Given the description of an element on the screen output the (x, y) to click on. 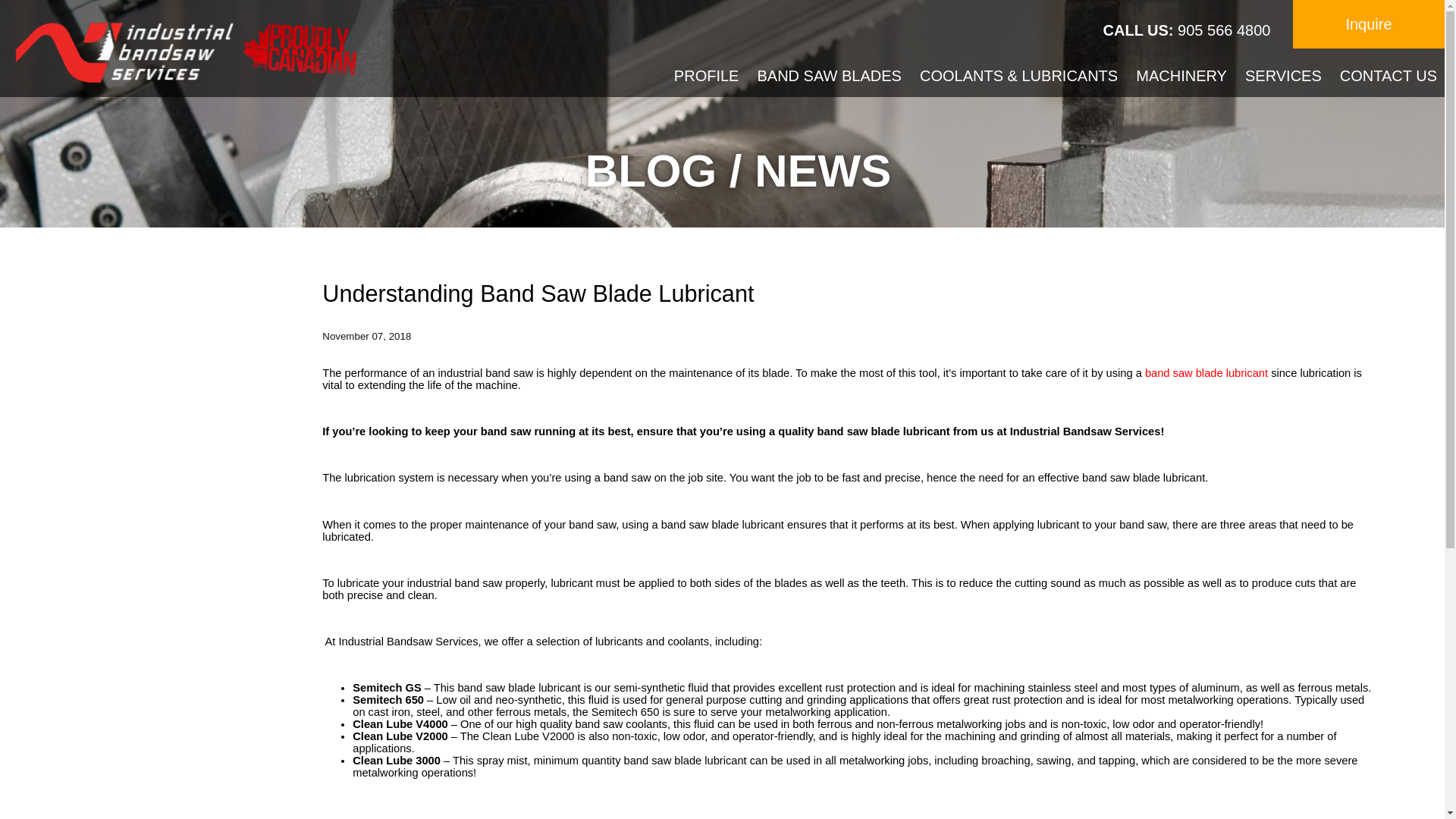
SERVICES (1283, 77)
BAND SAW BLADES (828, 77)
MACHINERY (1181, 77)
band saw blade lubricant (1206, 372)
PROFILE (706, 77)
